Given the description of an element on the screen output the (x, y) to click on. 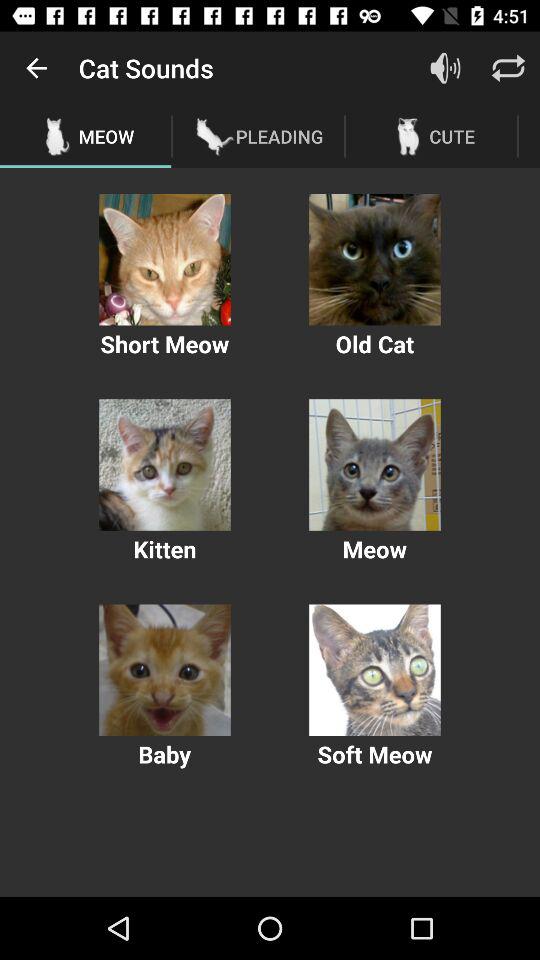
shift option (508, 67)
